Given the description of an element on the screen output the (x, y) to click on. 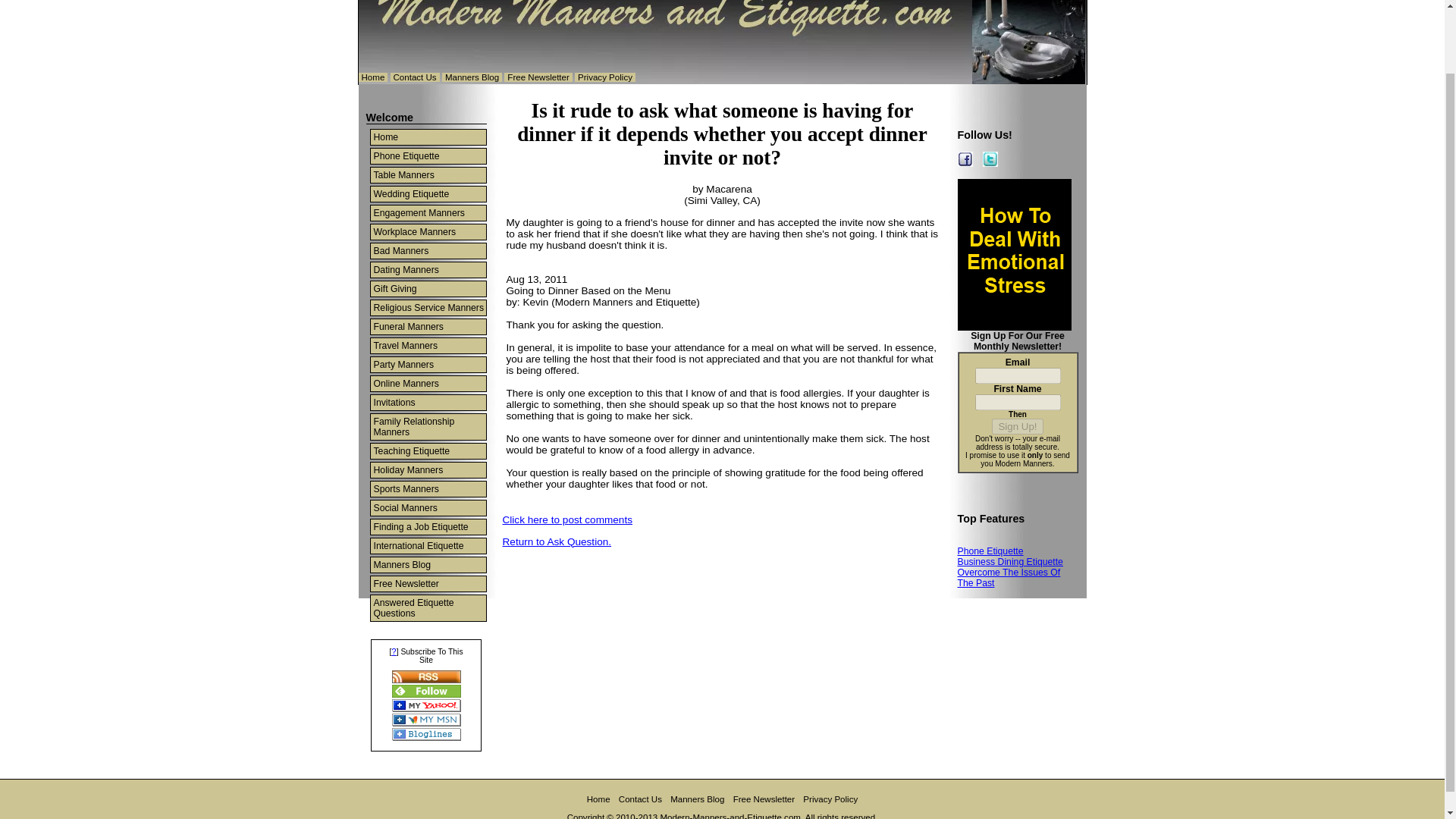
Follow Me On Facebook (964, 159)
Holiday Manners (426, 469)
Manners Blog (472, 76)
Privacy Policy (604, 76)
Engagement Manners (426, 212)
International Etiquette (426, 545)
Bad Manners (426, 250)
Online Manners (426, 383)
Family Relationship Manners (426, 426)
Sports Manners (426, 488)
Teaching Etiquette (426, 450)
Social Manners (426, 507)
Table Manners (426, 174)
Religious Service Manners (426, 307)
Return to Ask Question. (556, 541)
